Given the description of an element on the screen output the (x, y) to click on. 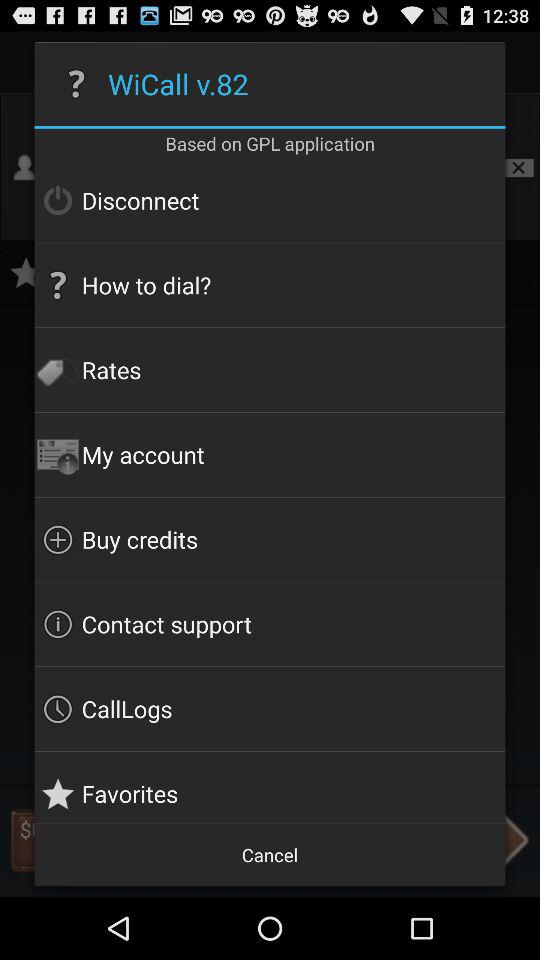
select the app above my account item (269, 370)
